Given the description of an element on the screen output the (x, y) to click on. 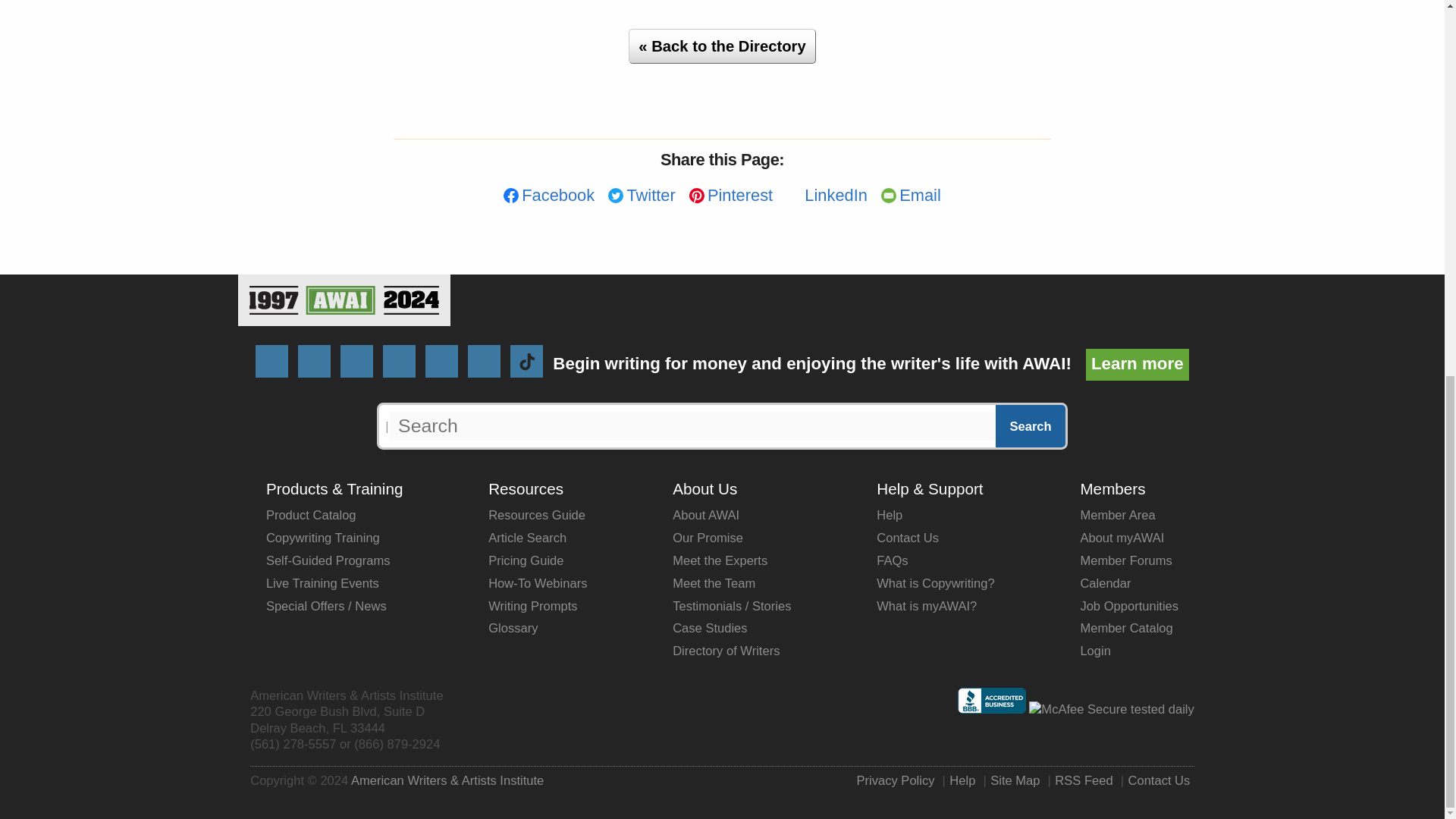
McAfee Secure Verified (1111, 709)
McAfee Secure Verified (1111, 708)
Better Business Bureau Accredited Business (992, 708)
Better Business Bureau Accredited Business (992, 700)
